Given the description of an element on the screen output the (x, y) to click on. 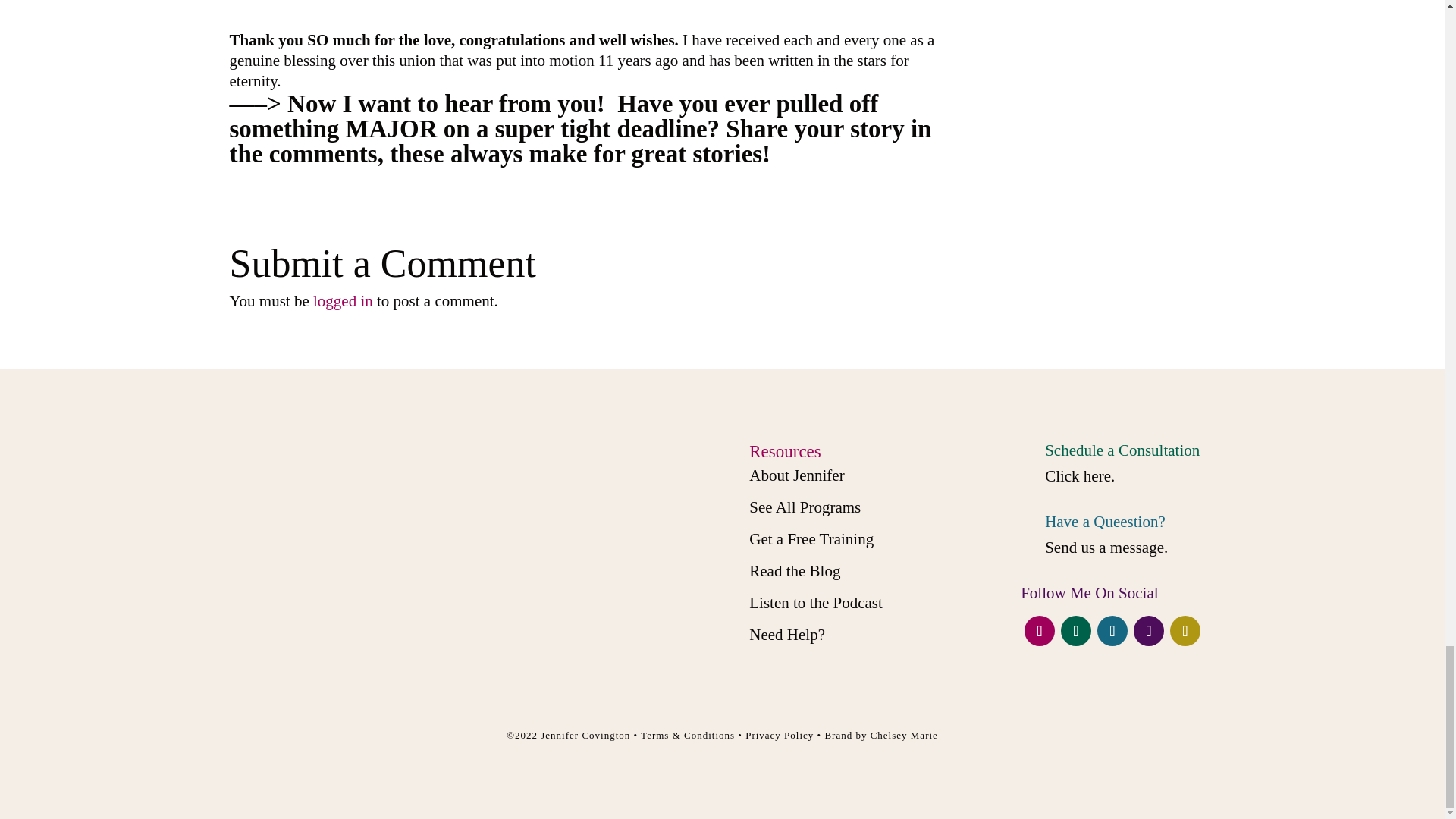
See All Programs (804, 506)
Need Help? (787, 634)
Brand by Chelsey Marie (880, 735)
Privacy Policy (779, 735)
Follow on Facebook (1039, 630)
logged in (342, 300)
Follow on X (1075, 630)
Listen to the Podcast (815, 602)
Follow on Pinterest (1184, 630)
About Jennifer (796, 475)
Schedule a Consultation (1122, 450)
Read the Blog (794, 570)
Stacked Logo (461, 559)
Have a Queestion? (1105, 521)
Follow on LinkedIn (1148, 630)
